Given the description of an element on the screen output the (x, y) to click on. 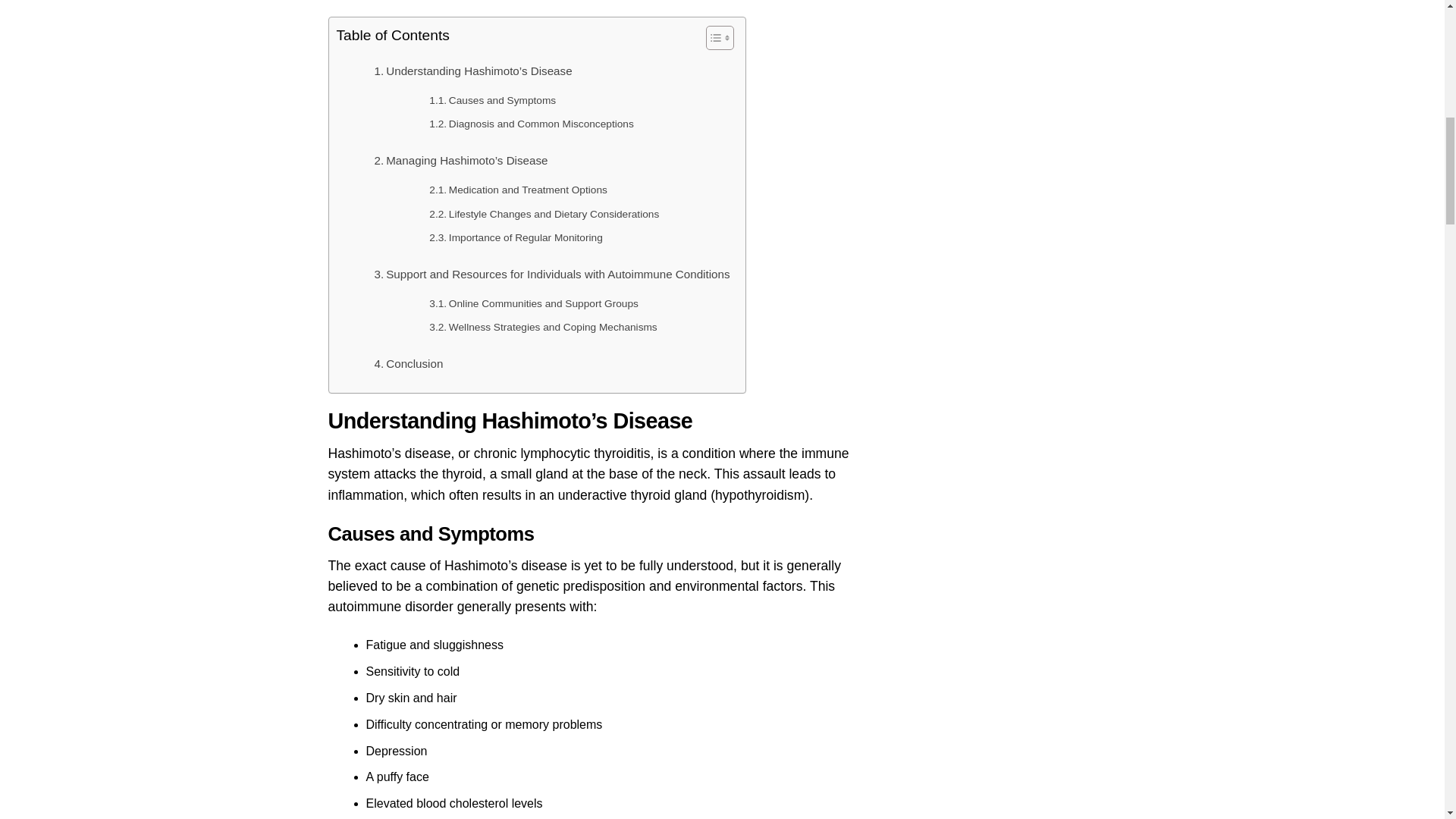
Medication and Treatment Options (518, 190)
Causes and Symptoms (492, 100)
Conclusion (409, 363)
Lifestyle Changes and Dietary Considerations (544, 214)
Importance of Regular Monitoring (515, 238)
Diagnosis and Common Misconceptions (531, 124)
Online Communities and Support Groups (534, 303)
Wellness Strategies and Coping Mechanisms (542, 327)
